Given the description of an element on the screen output the (x, y) to click on. 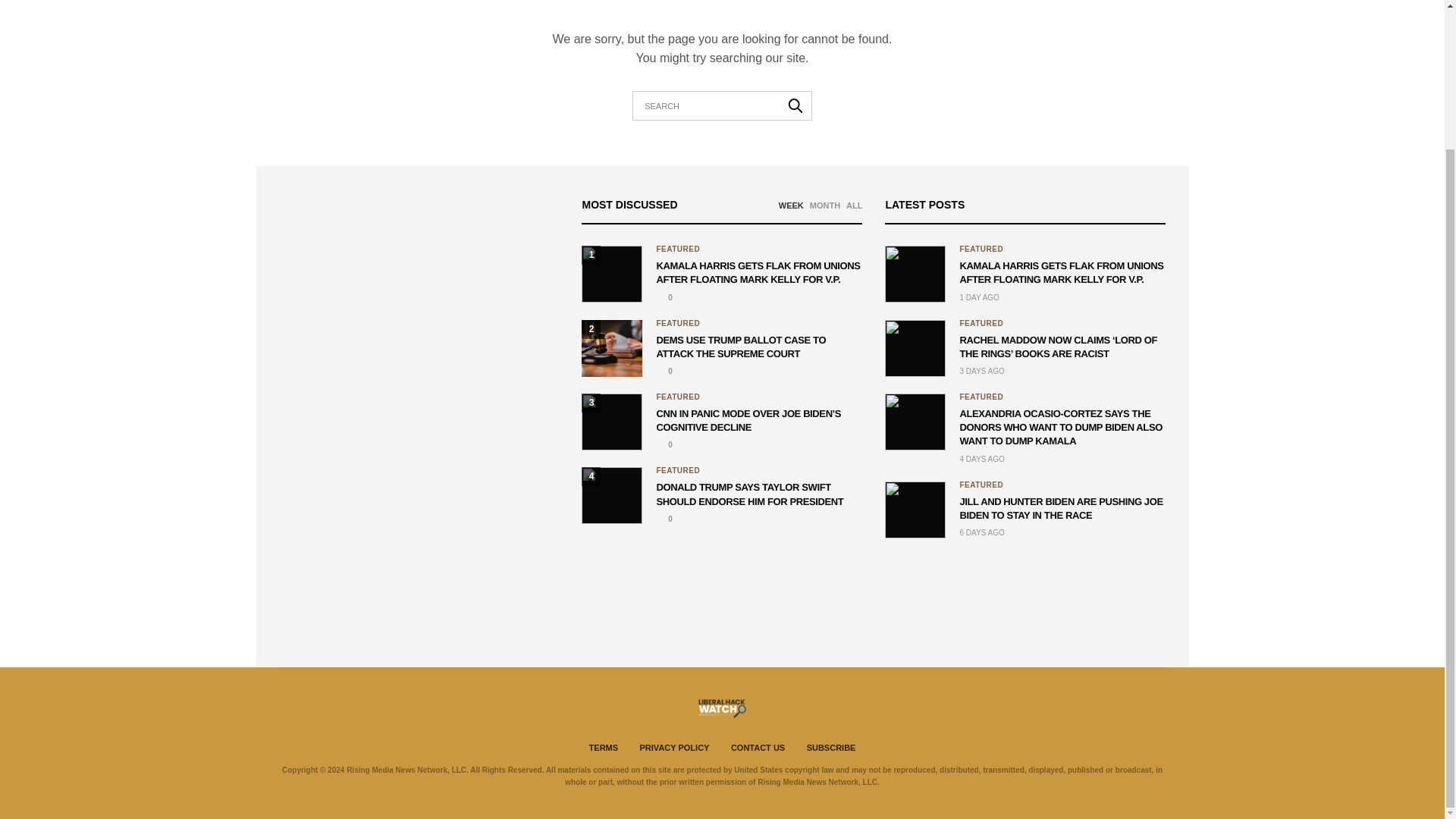
0 (663, 370)
FEATURED (678, 249)
WEEK (790, 204)
Search (795, 104)
Featured (678, 397)
Featured (981, 249)
0 (663, 297)
Dems Use Trump Ballot Case to Attack the Supreme Court (611, 348)
0 (663, 444)
Dems Use Trump Ballot Case to Attack the Supreme Court (663, 370)
Featured (678, 323)
FEATURED (678, 323)
